Given the description of an element on the screen output the (x, y) to click on. 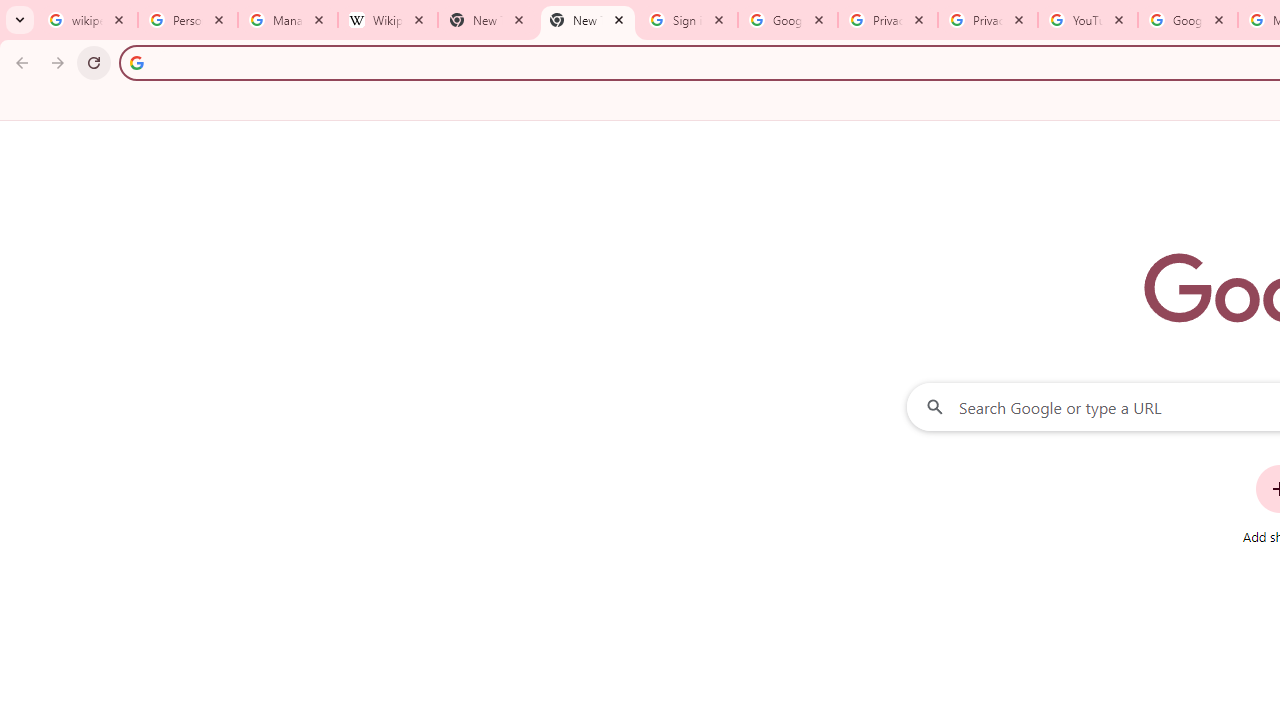
New Tab (587, 20)
New Tab (487, 20)
Google Drive: Sign-in (788, 20)
Sign in - Google Accounts (687, 20)
